Given the description of an element on the screen output the (x, y) to click on. 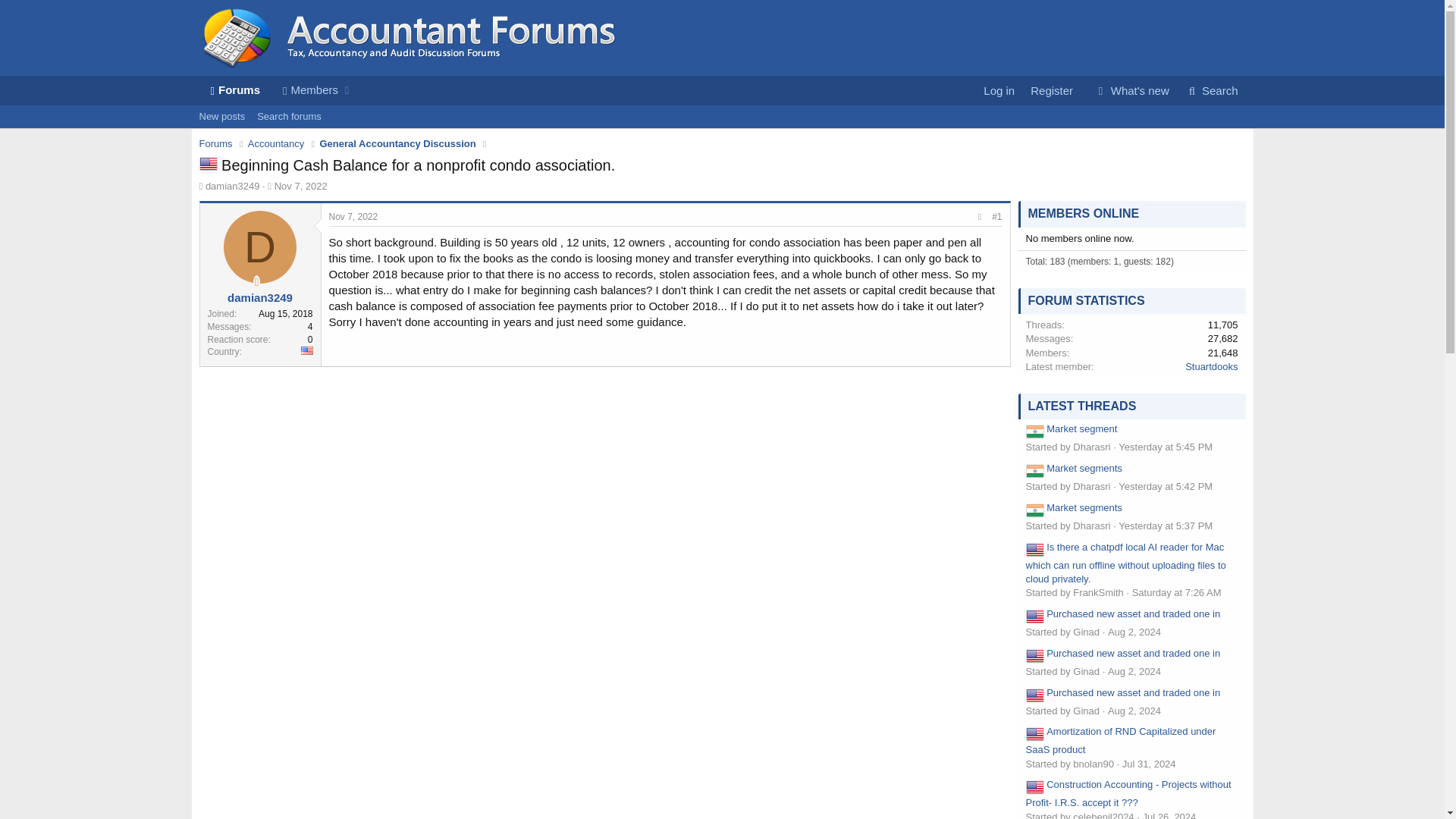
Search (274, 90)
D (1211, 90)
Aug 13, 2024 at 5:45 PM (260, 246)
Forums (1165, 446)
Nov 7, 2022 at 3:40 PM (234, 90)
Forums (721, 133)
What's new (301, 185)
